Given the description of an element on the screen output the (x, y) to click on. 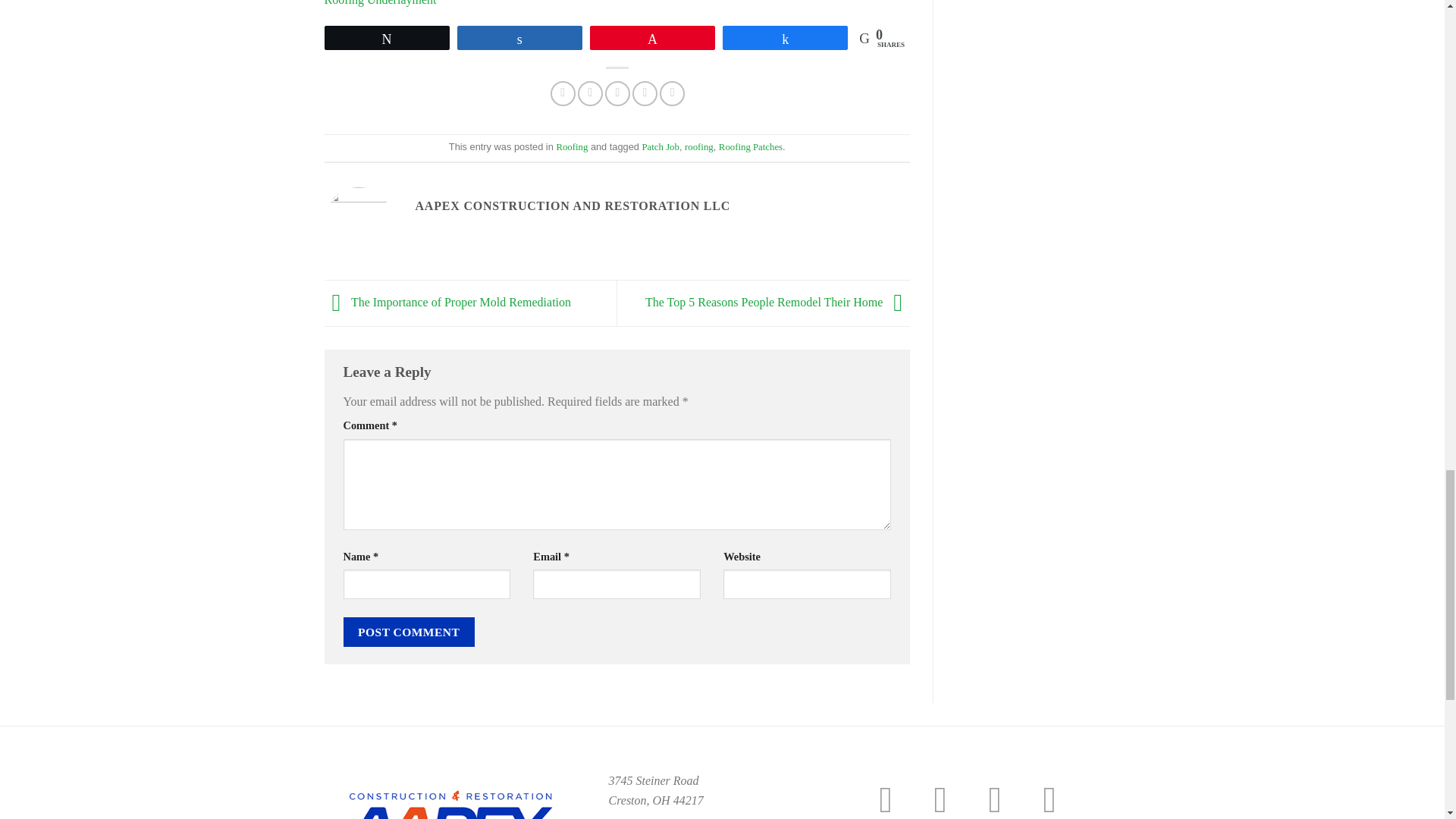
Roofing Underlayment (380, 2)
Pin on Pinterest (644, 93)
Post Comment (408, 632)
Follow on Facebook (897, 799)
Email to a Friend (617, 93)
Follow on LinkedIn (1060, 799)
Share on LinkedIn (671, 93)
Share on Facebook (562, 93)
Share on Twitter (590, 93)
Follow on Instagram (951, 799)
